Given the description of an element on the screen output the (x, y) to click on. 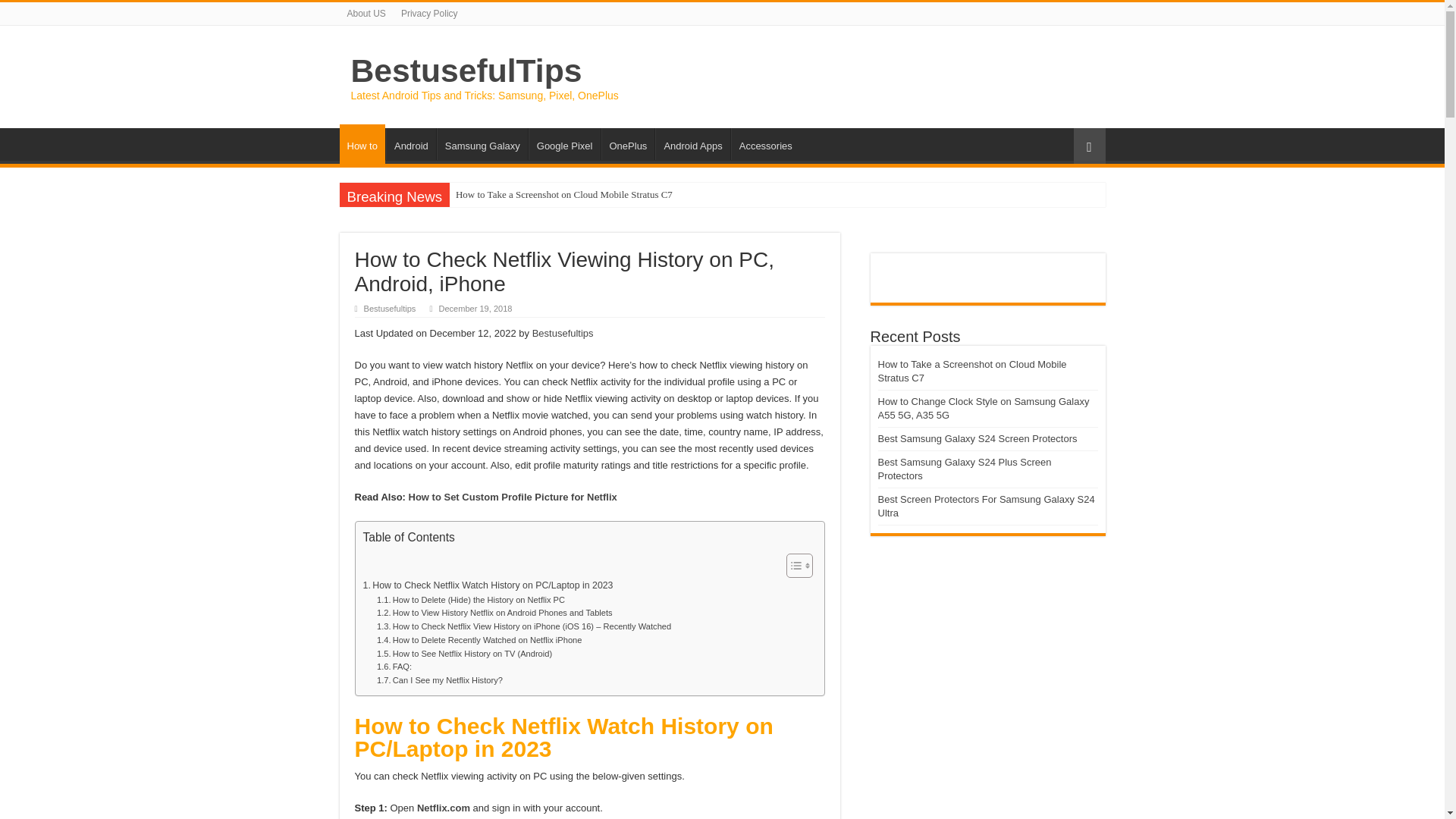
BestusefulTips (465, 70)
Can I See my Netflix History? (439, 680)
Google Pixel (563, 143)
Android (410, 143)
OnePlus (626, 143)
How to Set Custom Profile Picture for Netflix (513, 496)
How to Take a Screenshot on Cloud Mobile Stratus C7 (586, 194)
Privacy Policy (429, 13)
How to View History Netflix on Android Phones and Tablets (494, 612)
About US (366, 13)
Accessories (764, 143)
Samsung Galaxy (481, 143)
How to Take a Screenshot on Cloud Mobile Stratus C7 (586, 194)
How to View History Netflix on Android Phones and Tablets (494, 612)
Bestusefultips (563, 333)
